Given the description of an element on the screen output the (x, y) to click on. 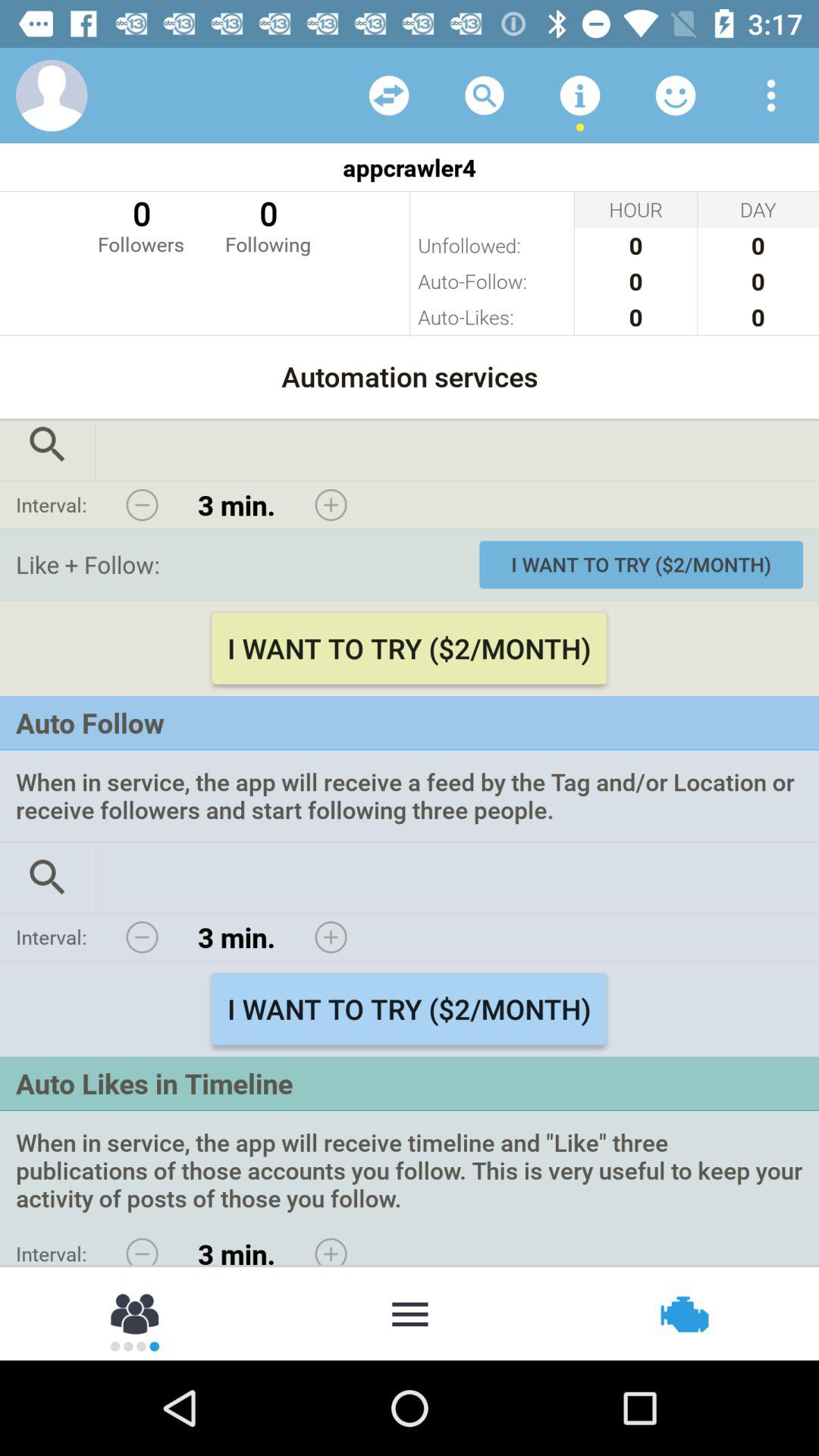
turn on item below when in service icon (683, 1312)
